Given the description of an element on the screen output the (x, y) to click on. 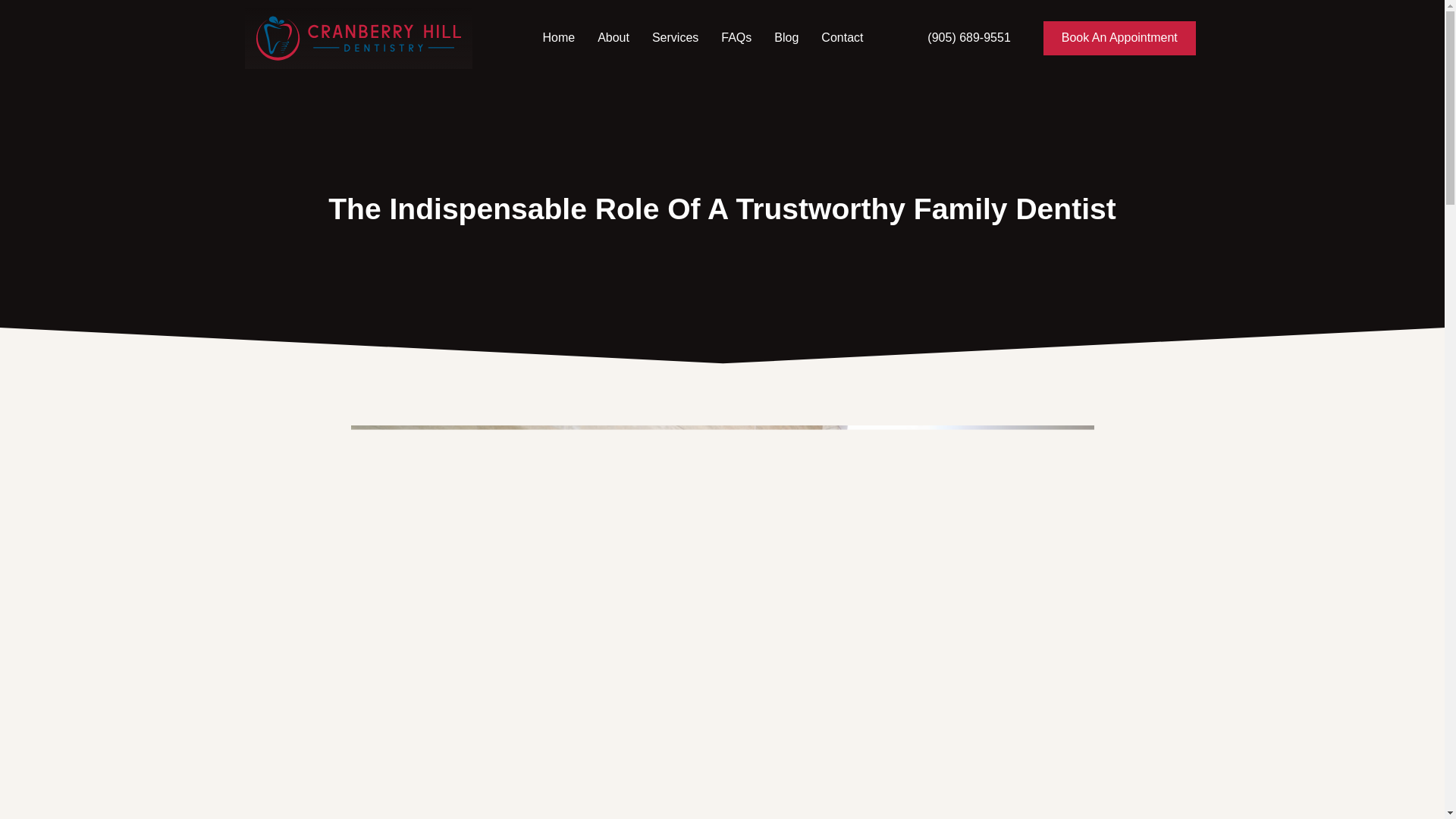
Book An Appointment (1119, 38)
Services (675, 38)
